Given the description of an element on the screen output the (x, y) to click on. 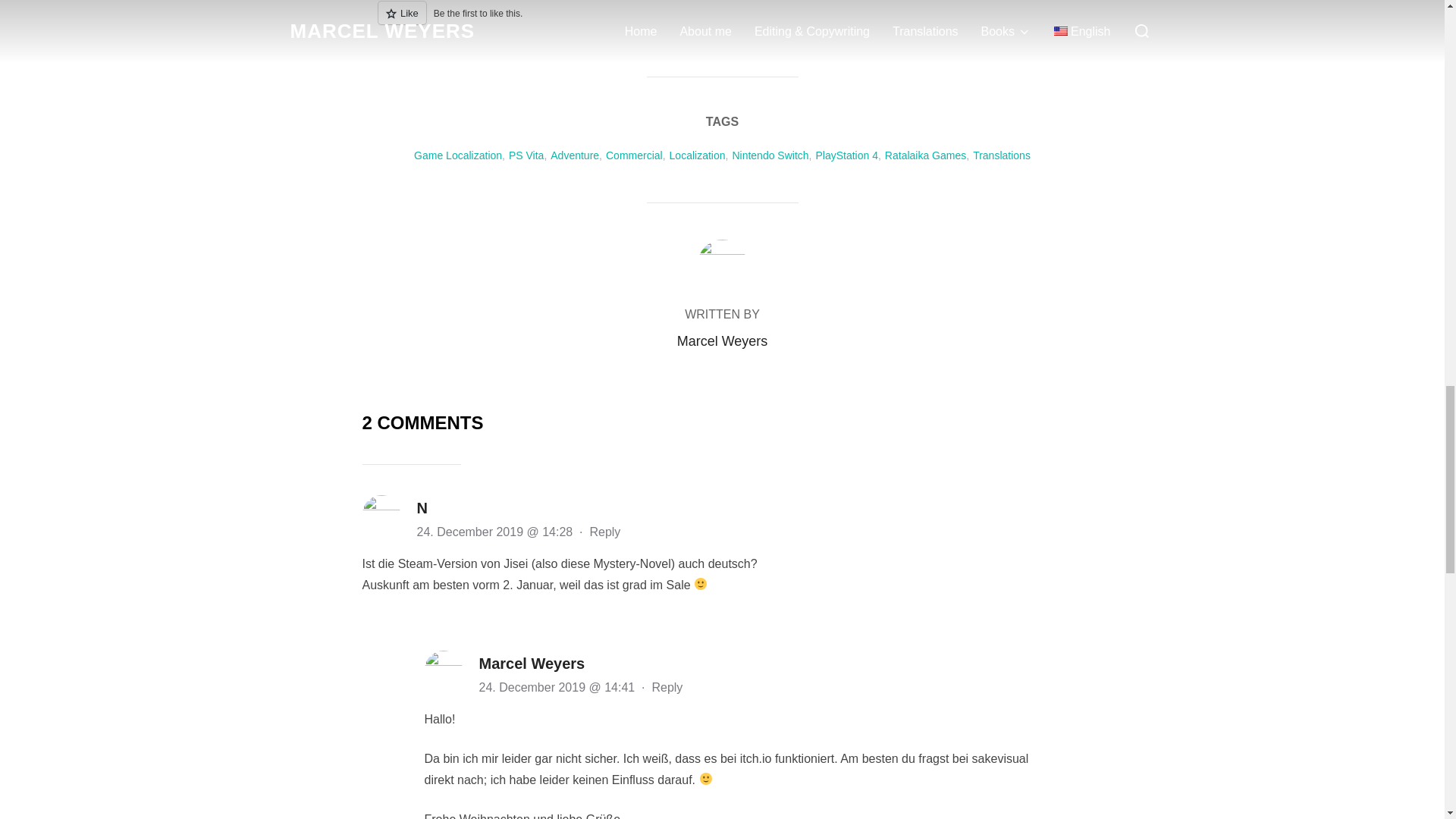
Like or Reblog (722, 21)
PS Vita (525, 155)
Posts by Marcel Weyers (722, 340)
Game Localization (457, 155)
